Given the description of an element on the screen output the (x, y) to click on. 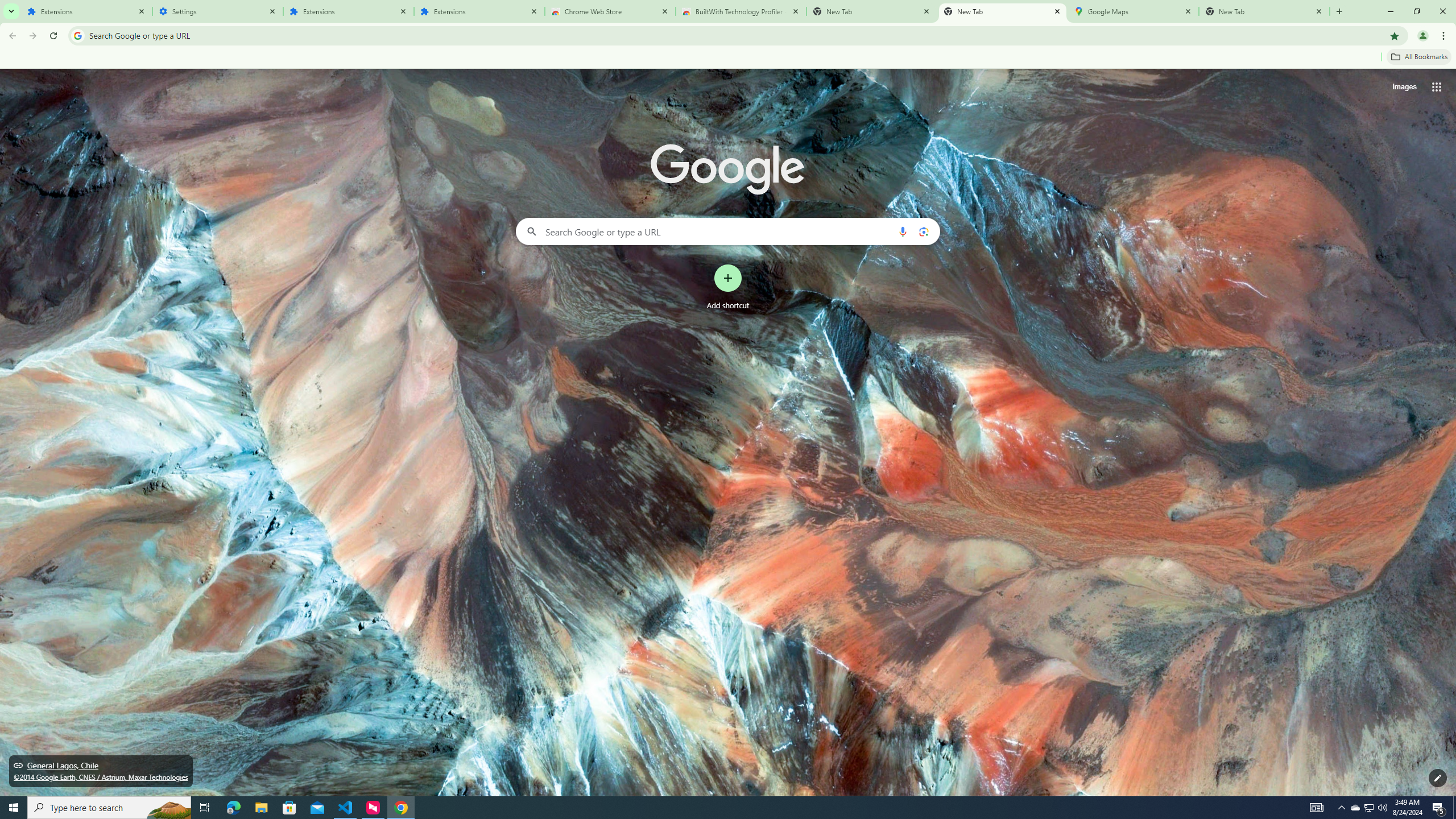
New Tab (1002, 11)
Google Maps (1133, 11)
Settings (217, 11)
Extensions (479, 11)
